Given the description of an element on the screen output the (x, y) to click on. 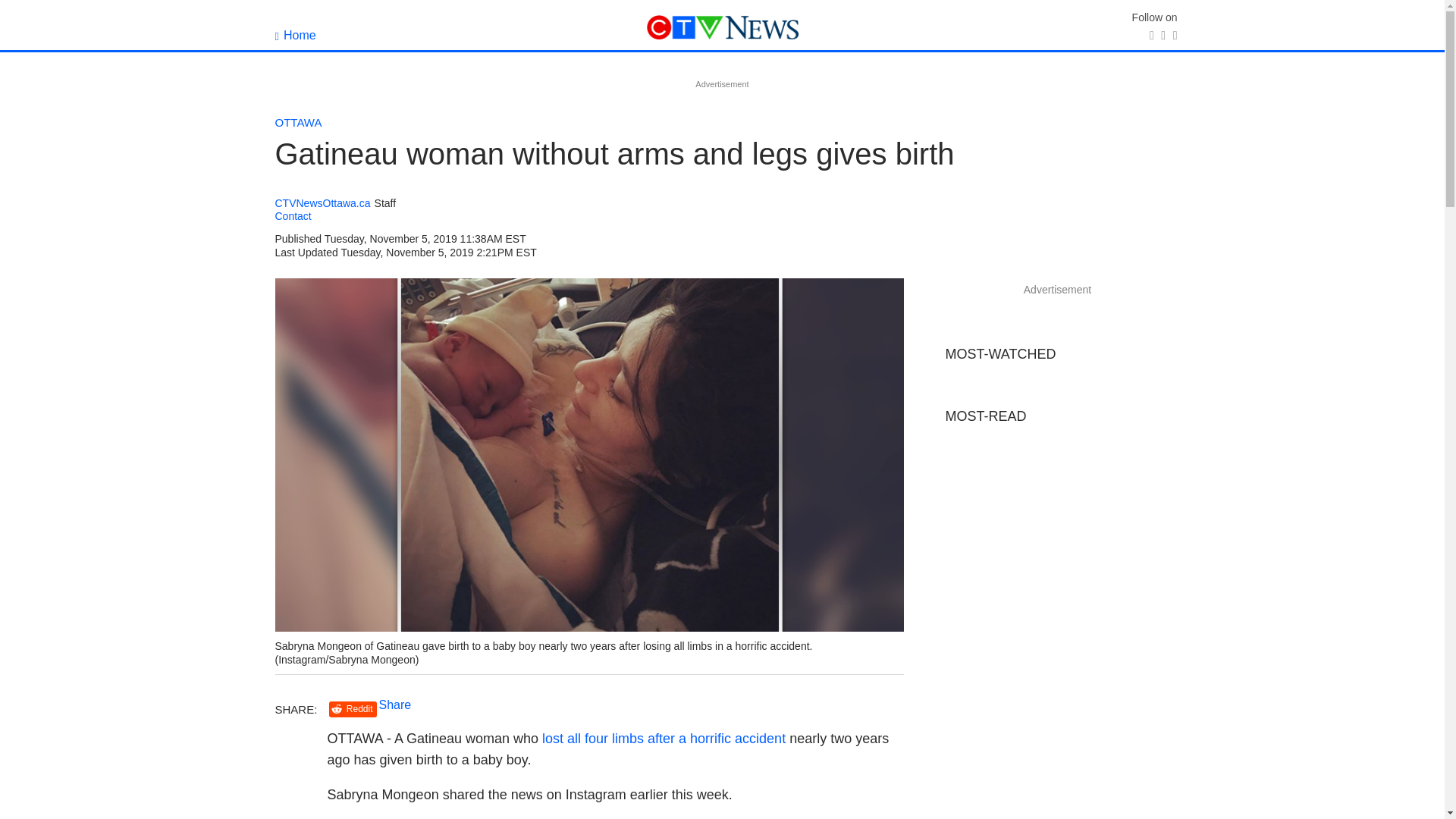
lost all four limbs after a horrific accident (663, 738)
CTVNewsOttawa.ca (322, 203)
Contact (293, 215)
OTTAWA (298, 122)
Home (295, 34)
Reddit (353, 709)
Share (395, 704)
